Given the description of an element on the screen output the (x, y) to click on. 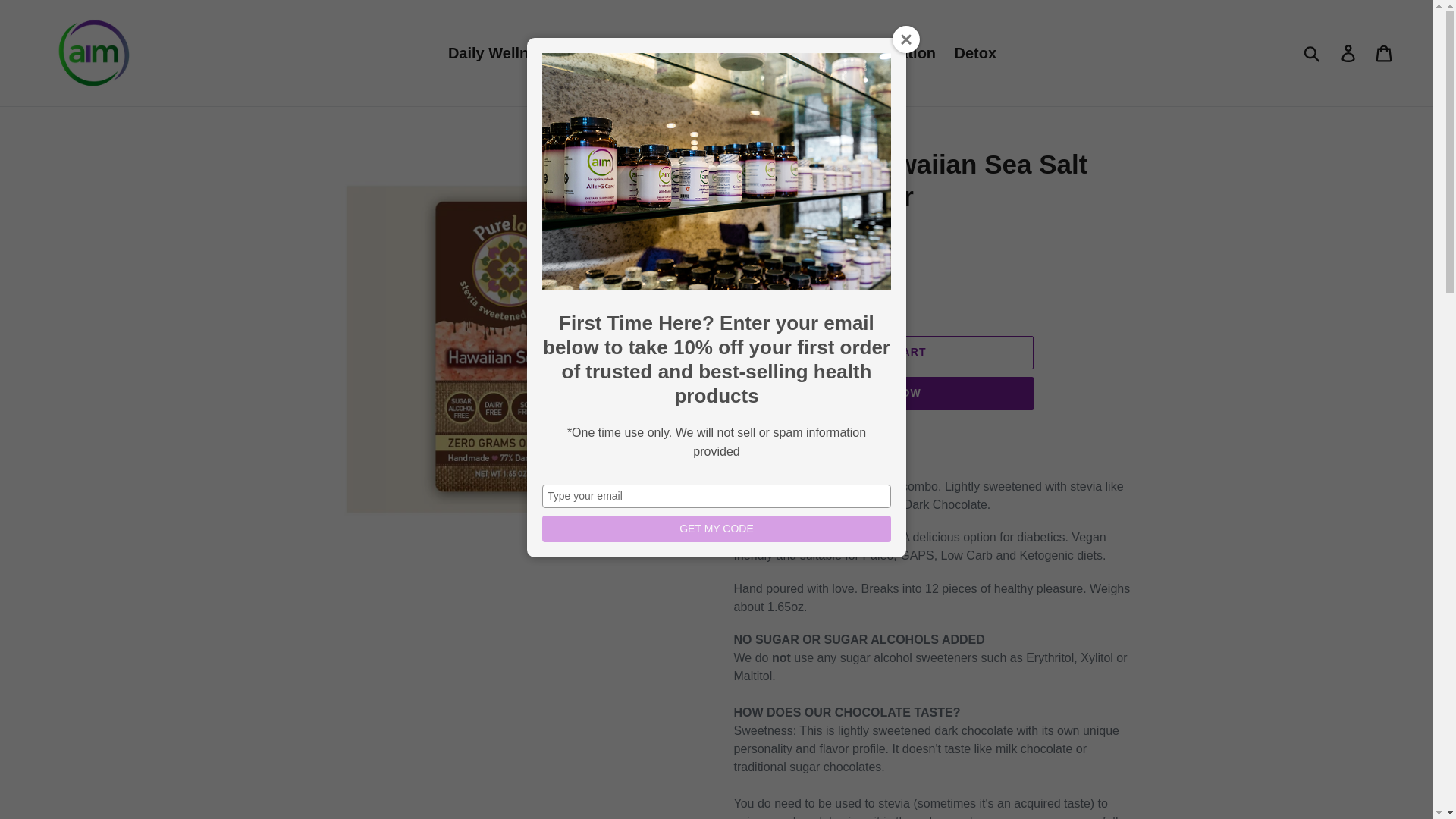
1 (770, 304)
Daily Wellness (501, 52)
ADD TO CART (884, 352)
Inflammation (888, 52)
Detox (975, 52)
Submit (1313, 52)
Log in (1349, 52)
Herbal (691, 52)
Cart (1385, 52)
GET MY CODE (716, 528)
Gut Health (610, 52)
BUY IT NOW (884, 393)
Brain Health (777, 52)
